Given the description of an element on the screen output the (x, y) to click on. 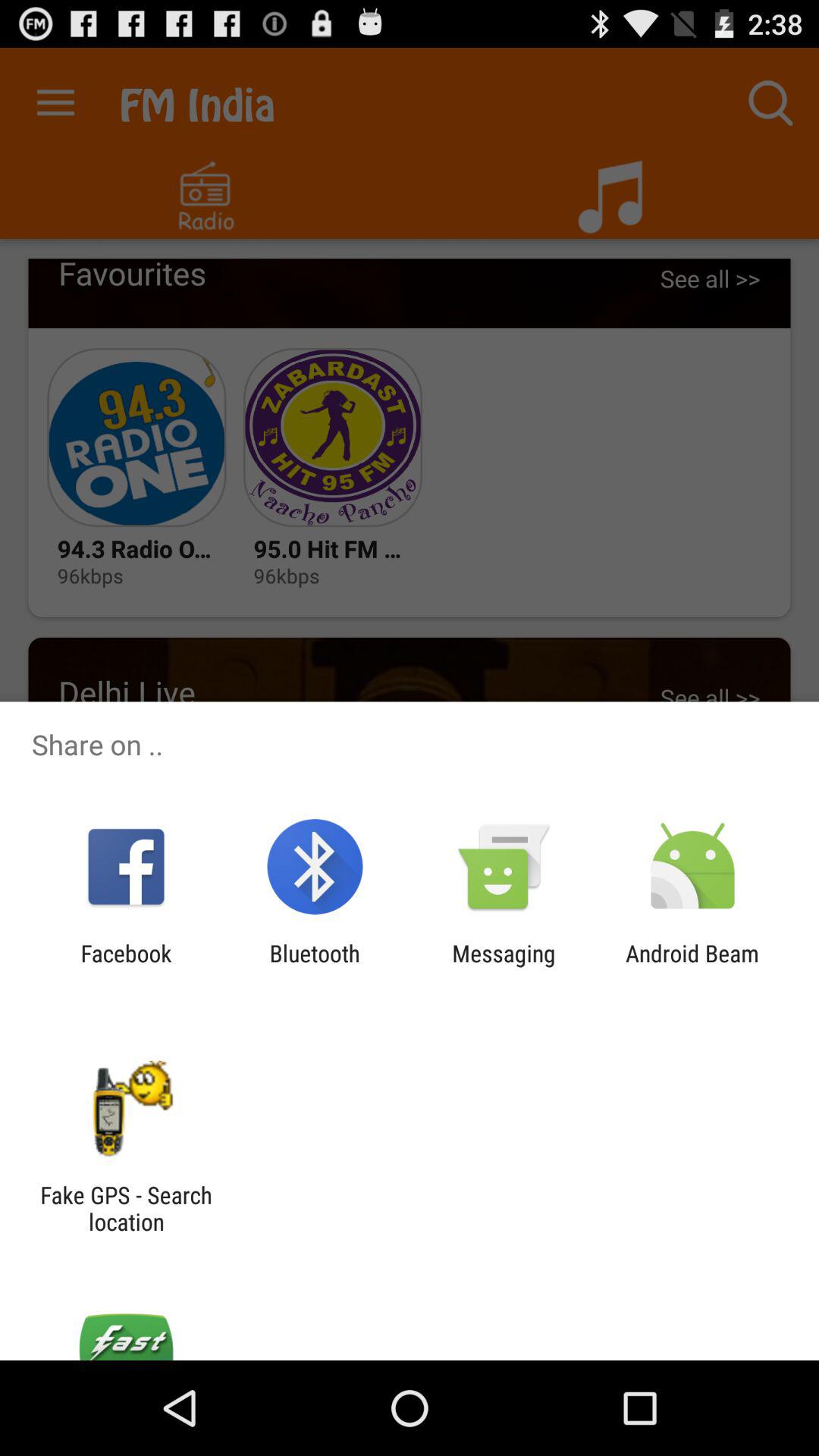
select the icon to the right of messaging icon (692, 966)
